Given the description of an element on the screen output the (x, y) to click on. 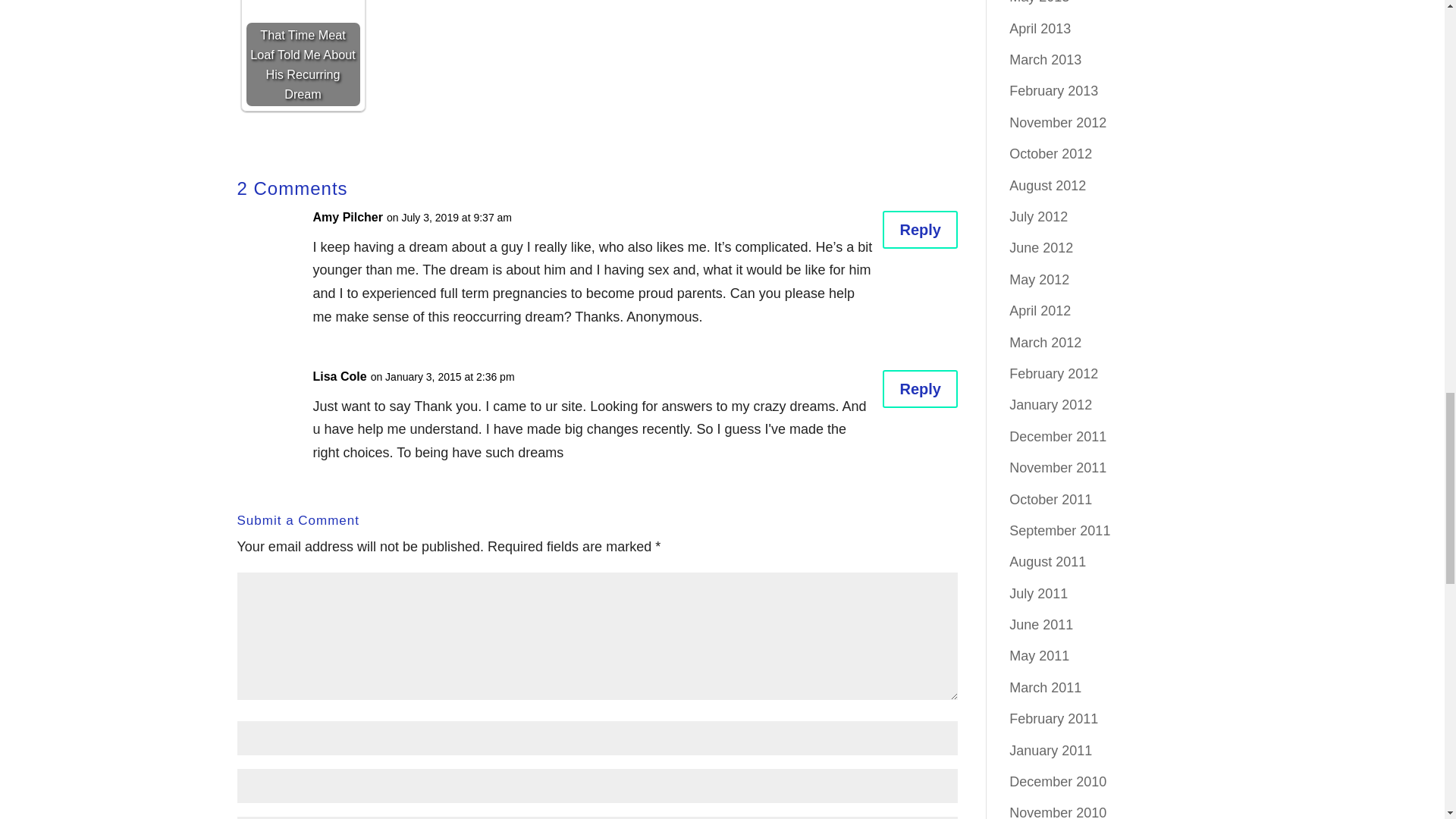
That Time Meat Loaf Told Me About His Recurring Dream (302, 53)
